Given the description of an element on the screen output the (x, y) to click on. 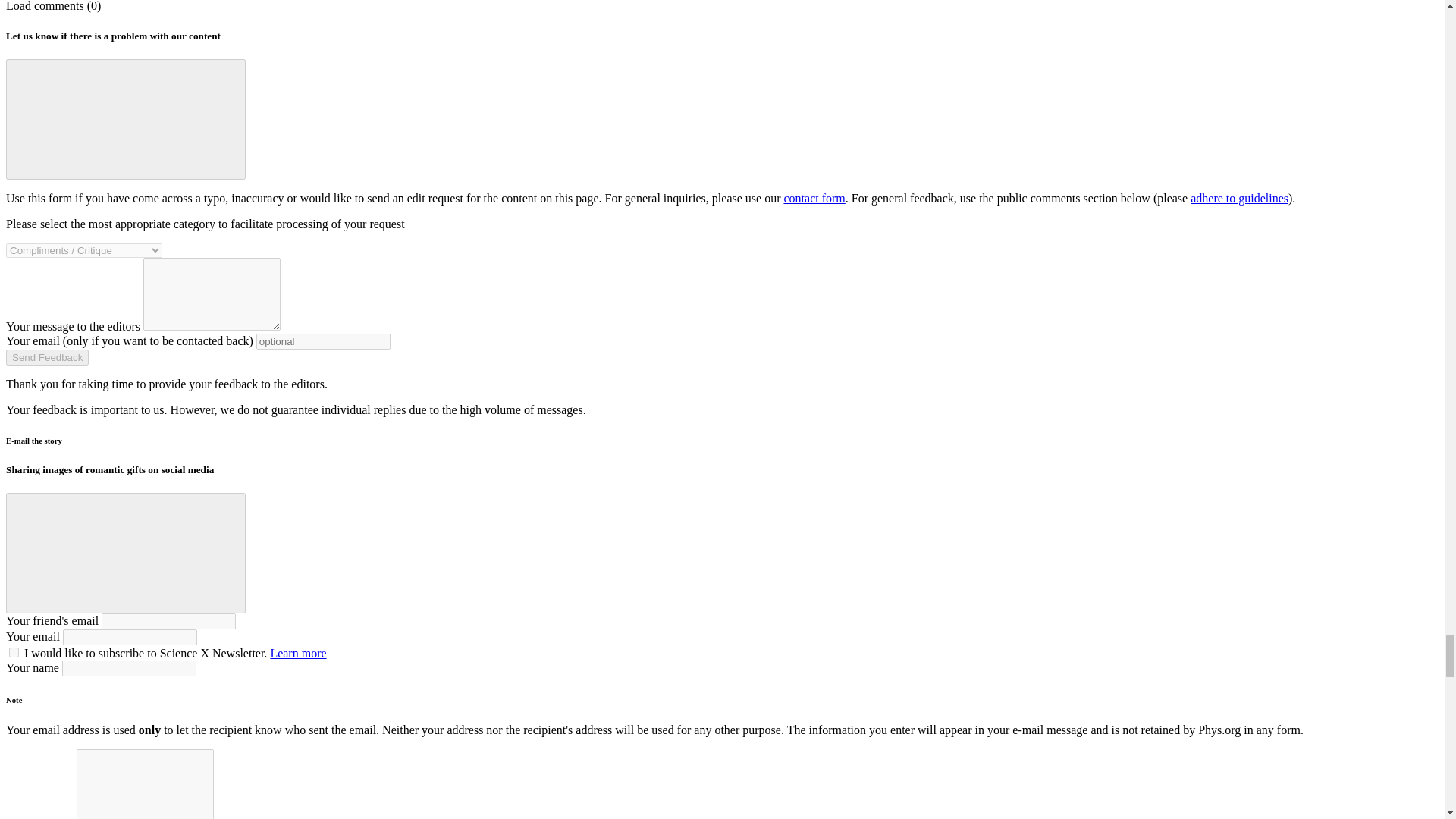
1 (13, 652)
